Given the description of an element on the screen output the (x, y) to click on. 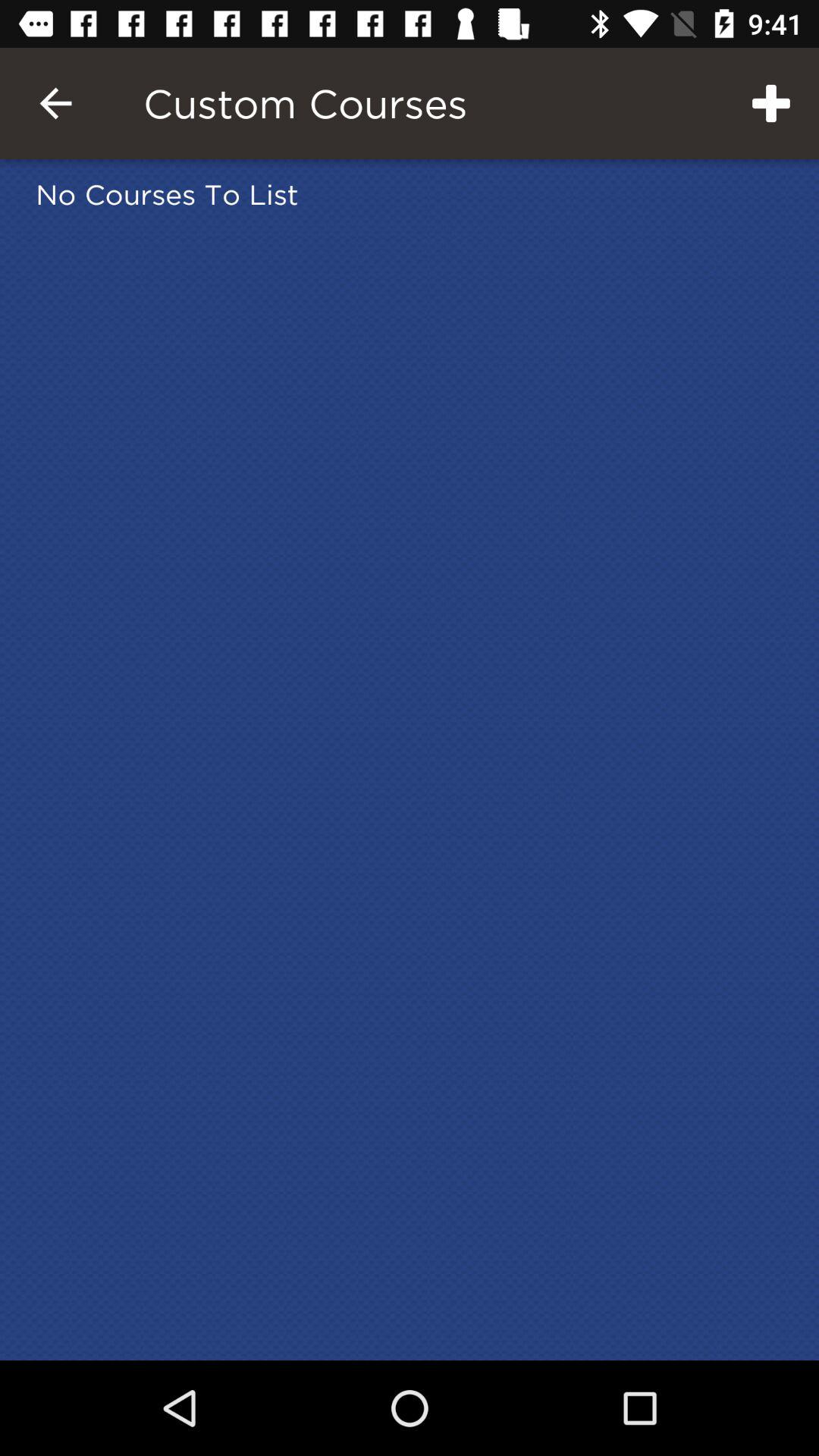
open item next to the custom courses (771, 103)
